Given the description of an element on the screen output the (x, y) to click on. 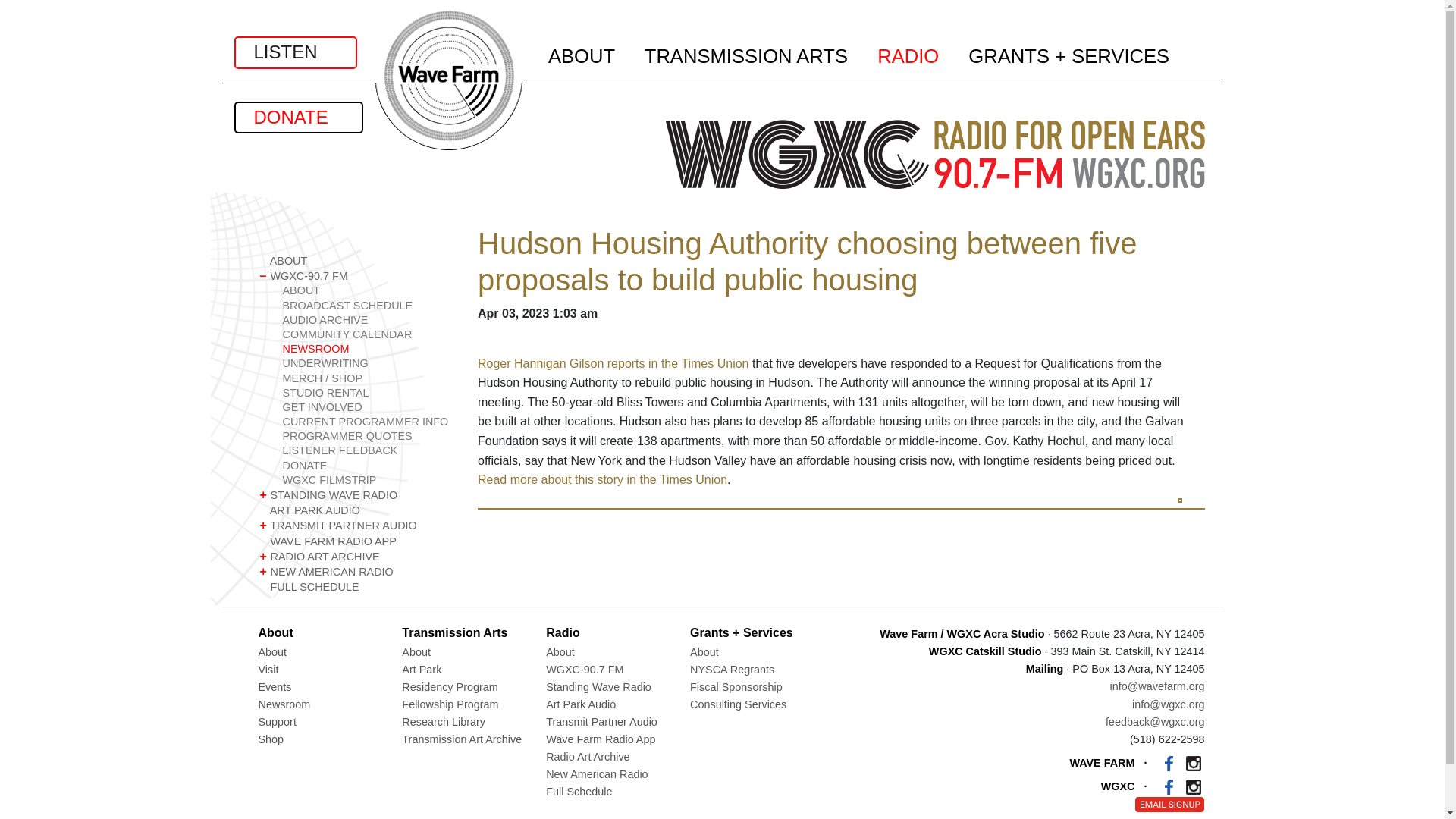
ABOUT (367, 290)
BROADCAST SCHEDULE (367, 305)
  ABOUT (355, 260)
DONATE    (297, 117)
LISTEN     (294, 51)
